Given the description of an element on the screen output the (x, y) to click on. 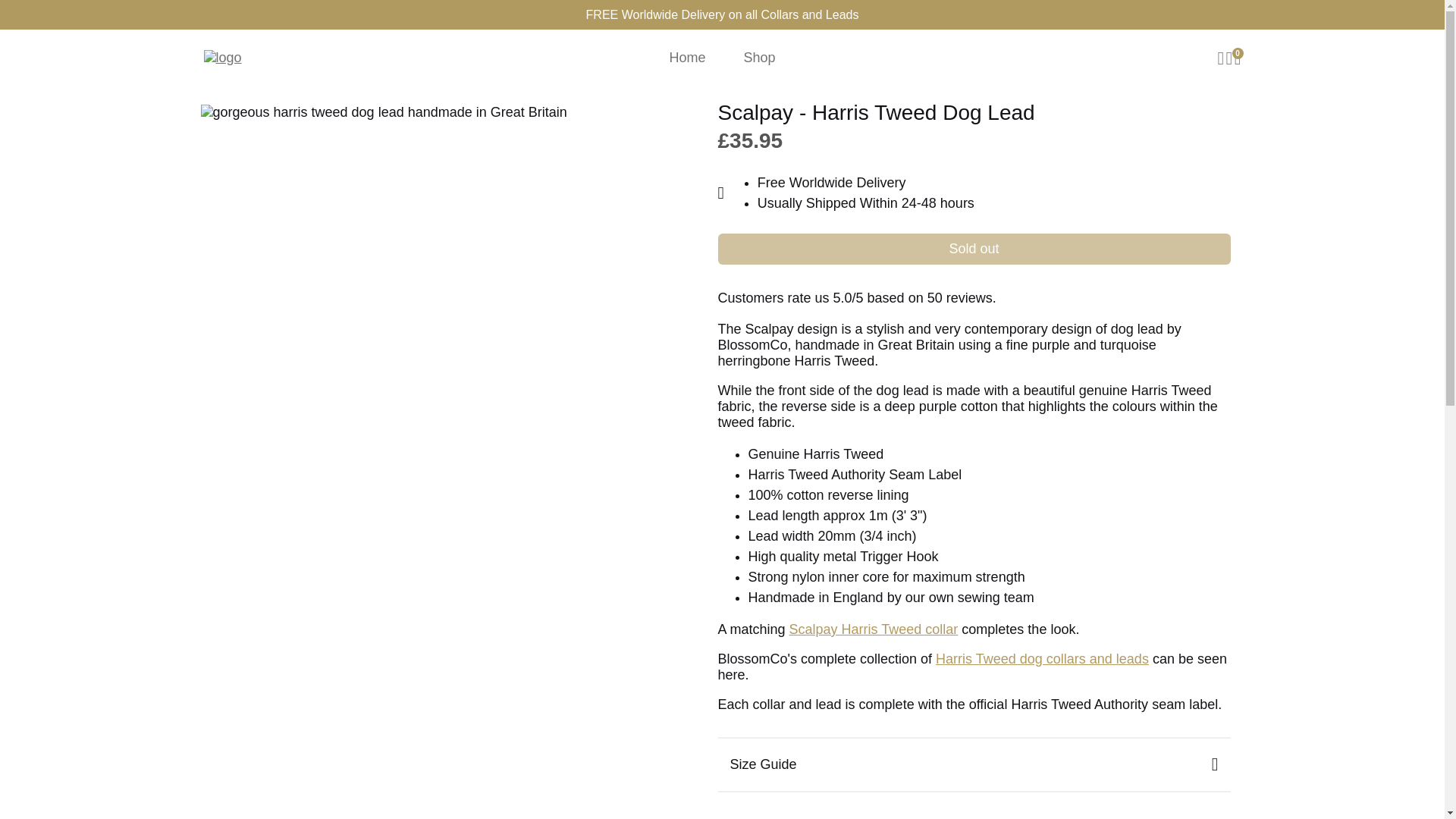
Shop (759, 57)
handmade in Great Britain harris tweed dog collar (873, 629)
Home (686, 57)
